Given the description of an element on the screen output the (x, y) to click on. 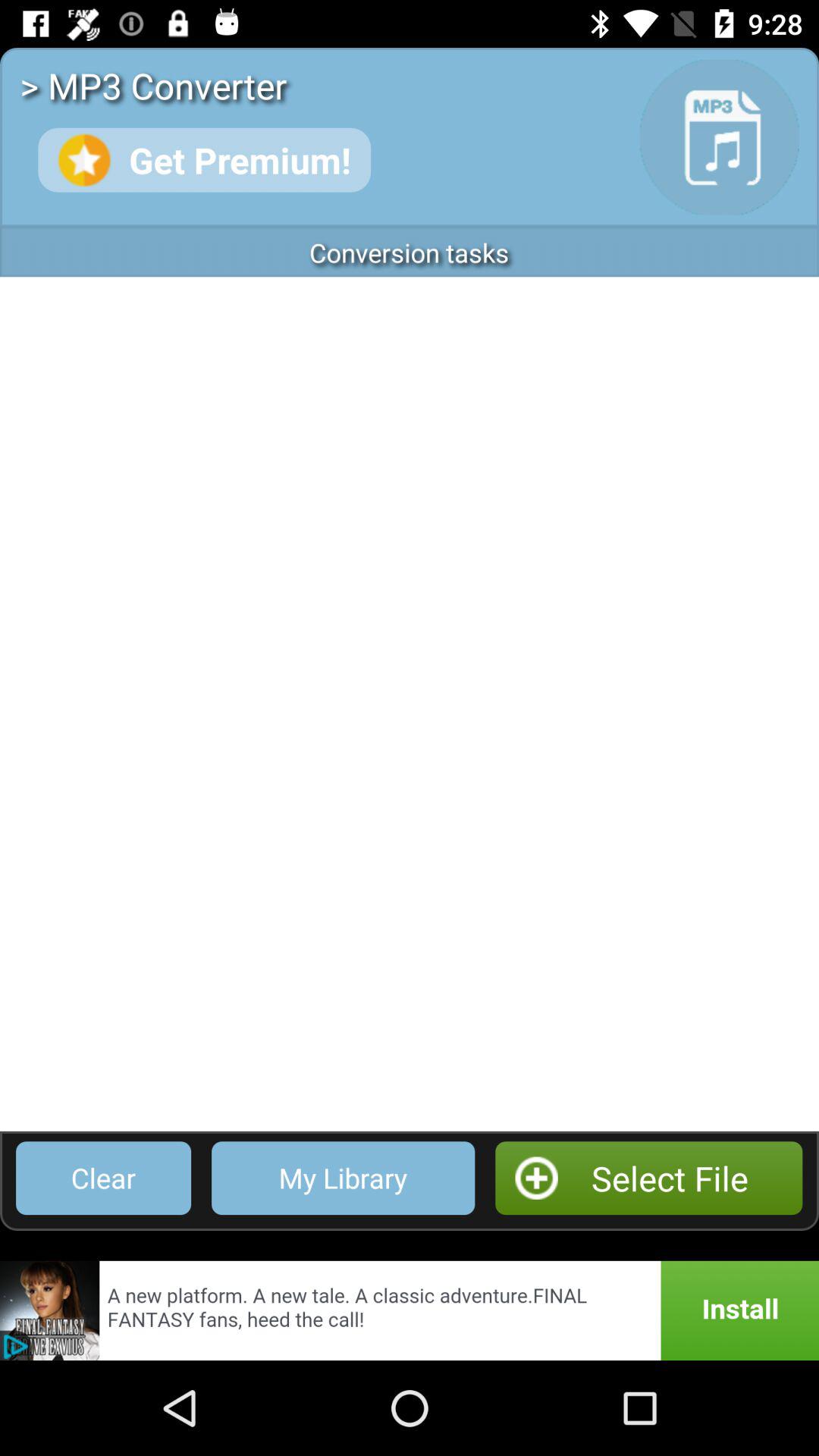
press item to the right of clear icon (342, 1177)
